Given the description of an element on the screen output the (x, y) to click on. 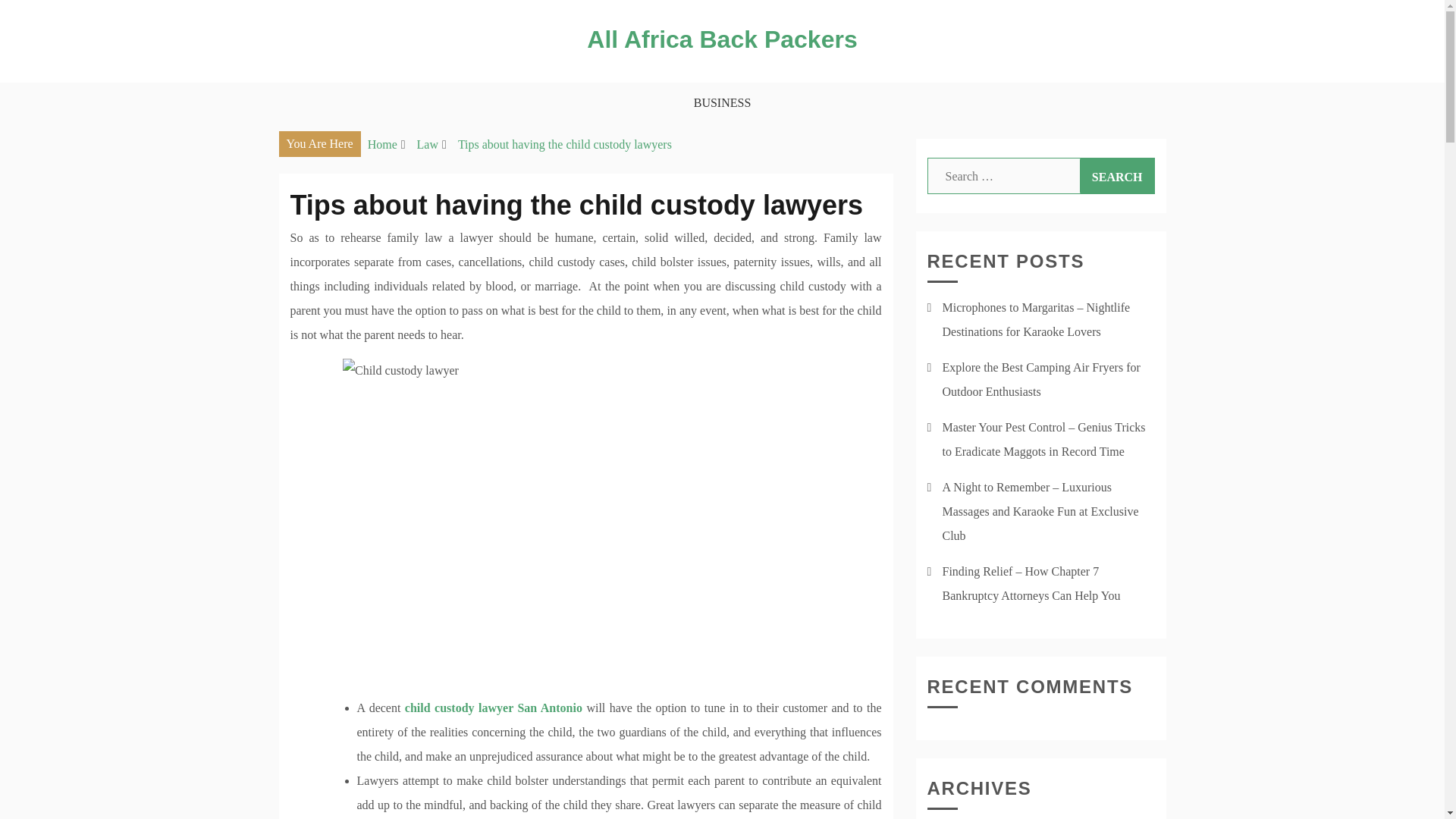
All Africa Back Packers (721, 39)
Explore the Best Camping Air Fryers for Outdoor Enthusiasts (1041, 379)
Tips about having the child custody lawyers (564, 144)
Search (1117, 176)
Home (382, 144)
child custody lawyer San Antonio (493, 707)
Search (1117, 176)
BUSINESS (722, 102)
Search (1117, 176)
Law (427, 144)
